Given the description of an element on the screen output the (x, y) to click on. 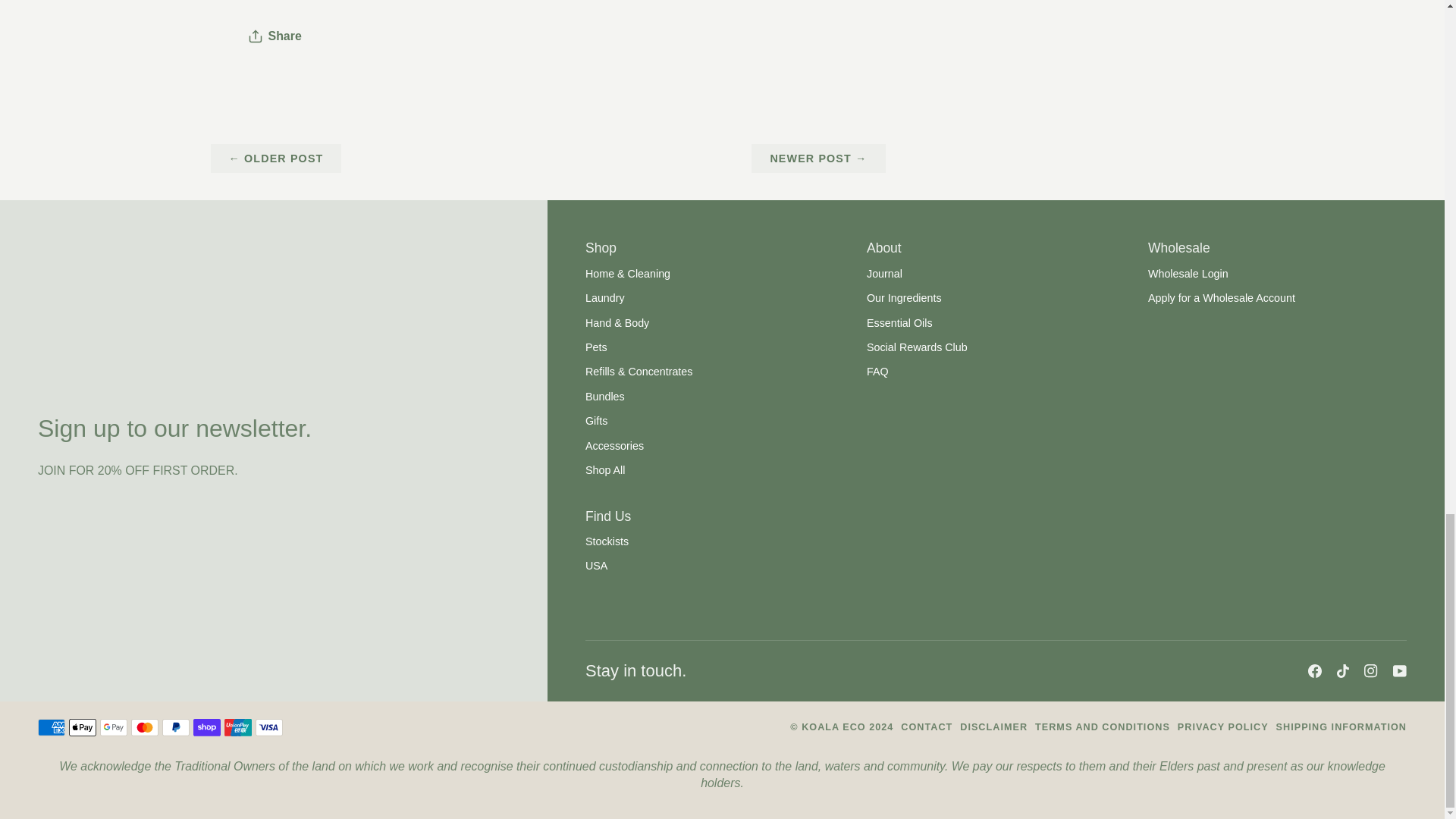
UNION PAY (237, 727)
APPLE PAY (82, 727)
VISA (269, 727)
YouTube (1399, 671)
MASTERCARD (144, 727)
Instagram (1370, 671)
Facebook (1314, 671)
PAYPAL (175, 727)
GOOGLE PAY (114, 727)
AMERICAN EXPRESS (51, 727)
